Given the description of an element on the screen output the (x, y) to click on. 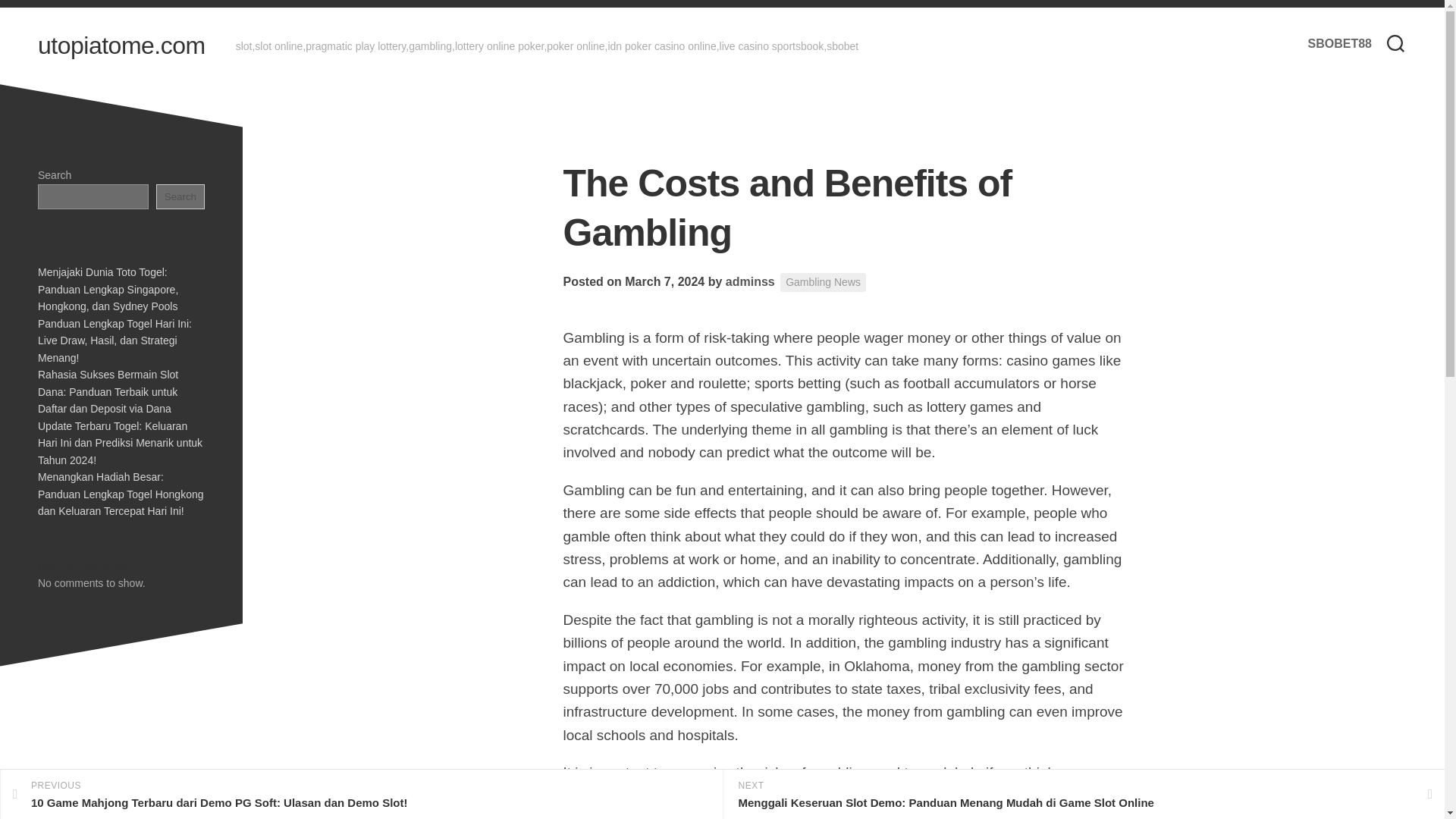
utopiatome.com (121, 44)
Search (180, 195)
adminss (749, 281)
Gambling News (823, 281)
SBOBET88 (1339, 43)
